Given the description of an element on the screen output the (x, y) to click on. 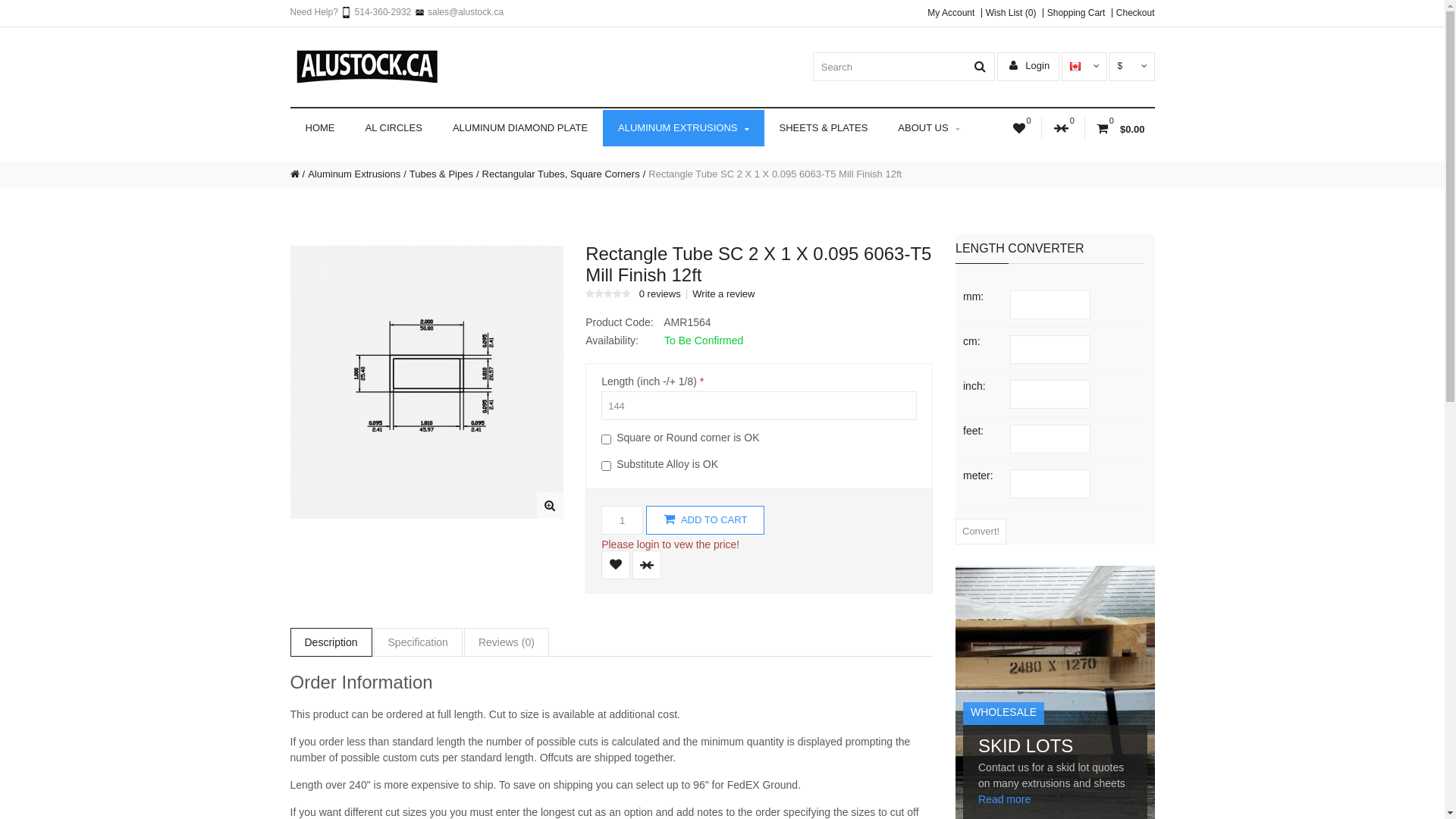
Write a review Element type: text (721, 293)
Tubes & Pipes Element type: text (445, 173)
Rectangle Tube SC 2 X 1 X 0.095 6063-T5 Mill Finish 12ft Element type: text (774, 173)
Login Element type: text (960, 230)
ALUMINUM DIAMOND PLATE Element type: text (519, 127)
0 Element type: text (1062, 127)
Reviews (0) Element type: text (506, 641)
0 $0.00 Element type: text (1119, 127)
Alustock.ca Element type: hover (365, 66)
Rectangle Tube SC 2 X 1 X 0.095 6063-T5 Mill Finish 12ft Element type: hover (549, 505)
HOME Element type: text (319, 127)
Shopping Cart Element type: text (1073, 12)
Login Element type: text (1029, 65)
ALUMINUM EXTRUSIONS Element type: text (682, 127)
SHEETS & PLATES Element type: text (823, 127)
My Account Element type: text (950, 12)
Wish List (0) Element type: text (1008, 12)
0 Element type: text (1021, 127)
English Element type: hover (1075, 66)
ABOUT US Element type: text (928, 127)
AL CIRCLES Element type: text (393, 127)
$ Element type: text (1131, 65)
0 reviews Element type: text (658, 293)
Rectangle Tube SC 2 X 1 X 0.095 6063-T5 Mill Finish 12ft Element type: hover (425, 381)
Description Element type: text (330, 641)
Specification Element type: text (417, 641)
Aluminum Extrusions Element type: text (358, 173)
ADD TO CART Element type: text (705, 519)
Rectangular Tubes, Square Corners Element type: text (565, 173)
Checkout Element type: text (1132, 12)
Read more Element type: text (1004, 799)
